Given the description of an element on the screen output the (x, y) to click on. 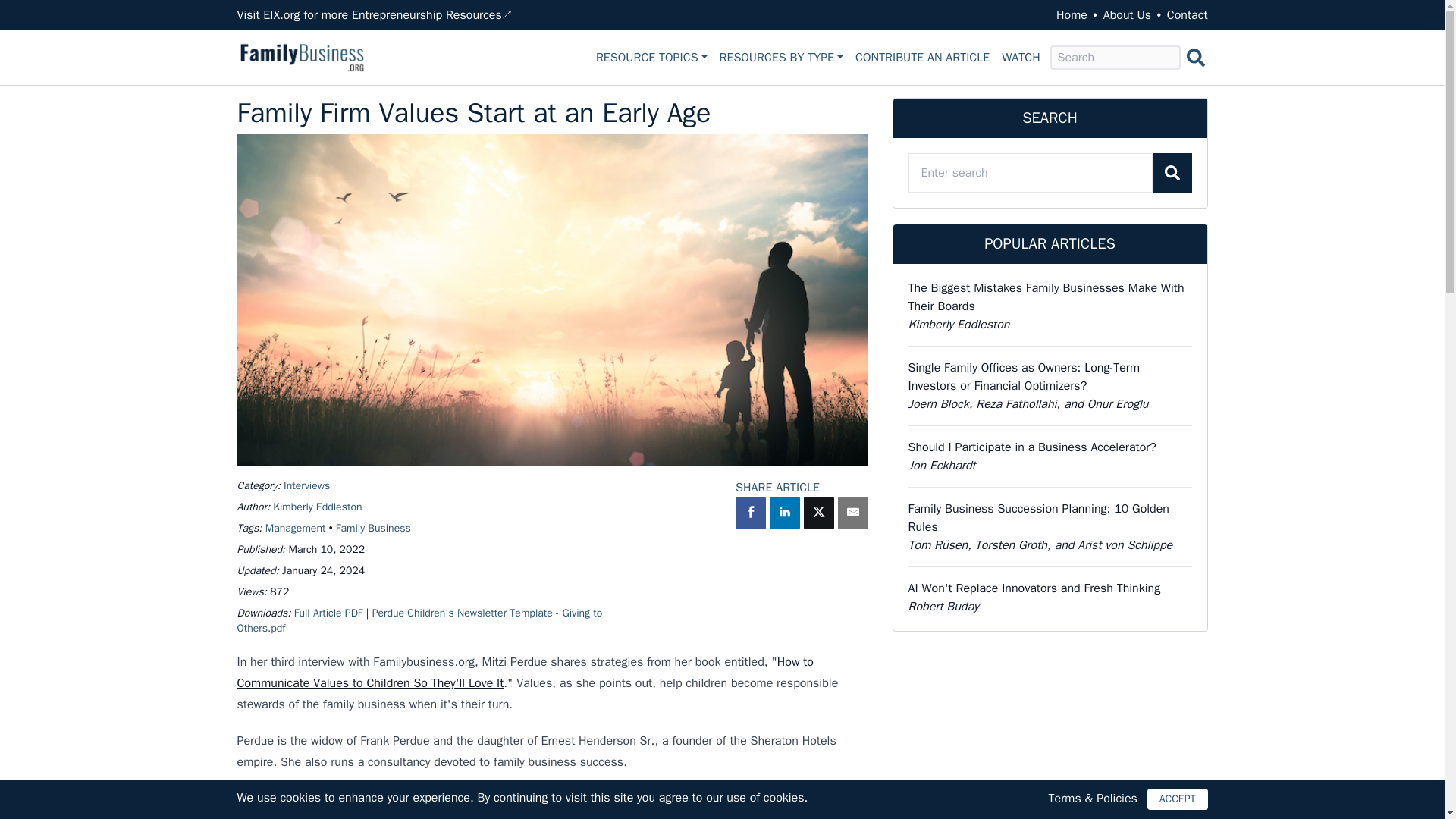
Interviews (306, 485)
Home (1072, 15)
CONTRIBUTE AN ARTICLE (923, 57)
Perdue Children's Newsletter Template - Giving to Others.pdf (418, 620)
Search (1194, 57)
Search (1172, 172)
Visit EIX.org for more Entrepreneurship Resources (367, 14)
WATCH (1021, 57)
How to Communicate Values to Children So They'll Love It (523, 672)
Full Article PDF (328, 612)
